Given the description of an element on the screen output the (x, y) to click on. 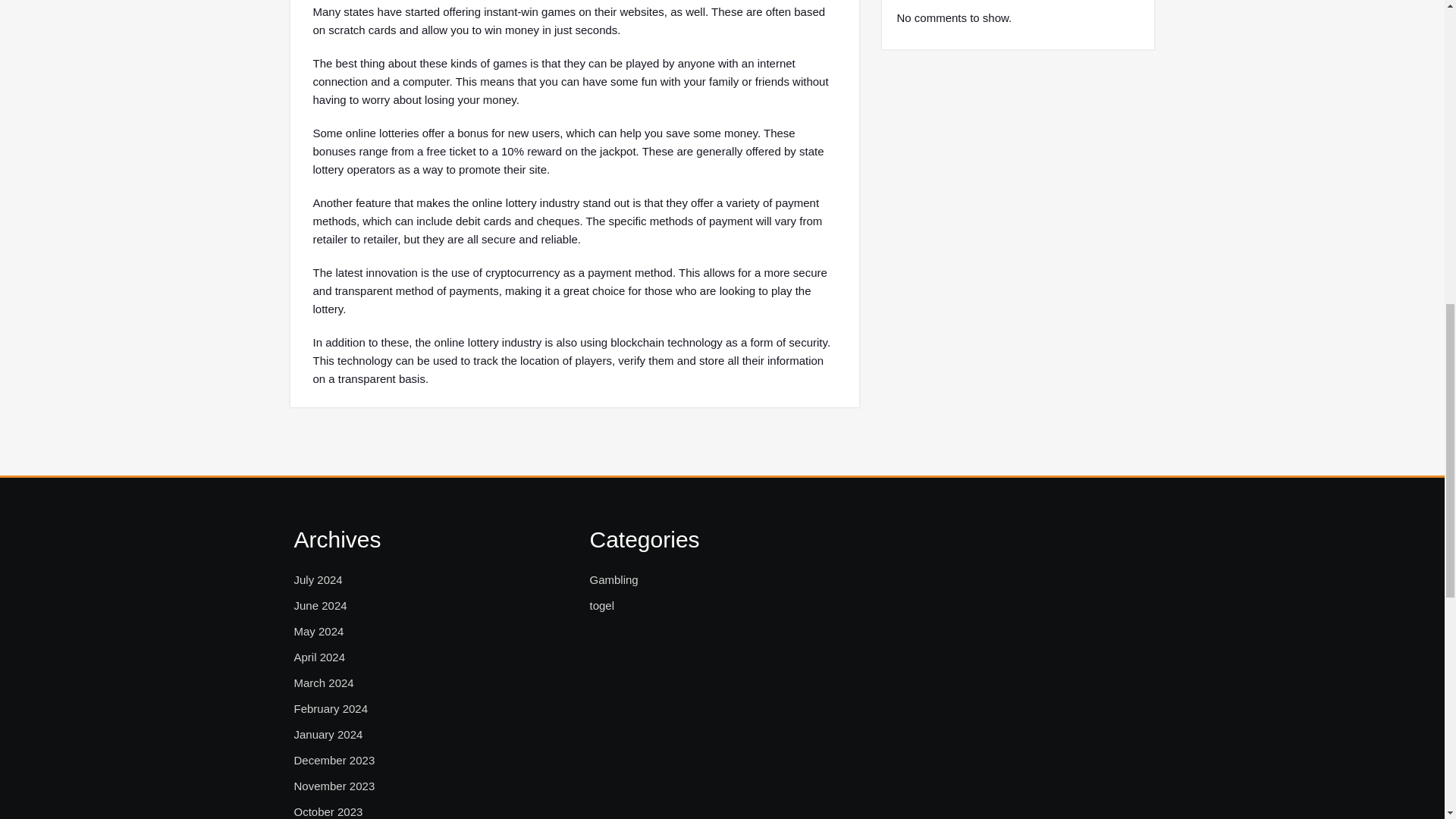
June 2024 (320, 606)
July 2024 (318, 579)
December 2023 (334, 760)
January 2024 (328, 734)
November 2023 (334, 786)
February 2024 (331, 709)
April 2024 (320, 657)
March 2024 (323, 683)
October 2023 (328, 811)
May 2024 (318, 631)
